Given the description of an element on the screen output the (x, y) to click on. 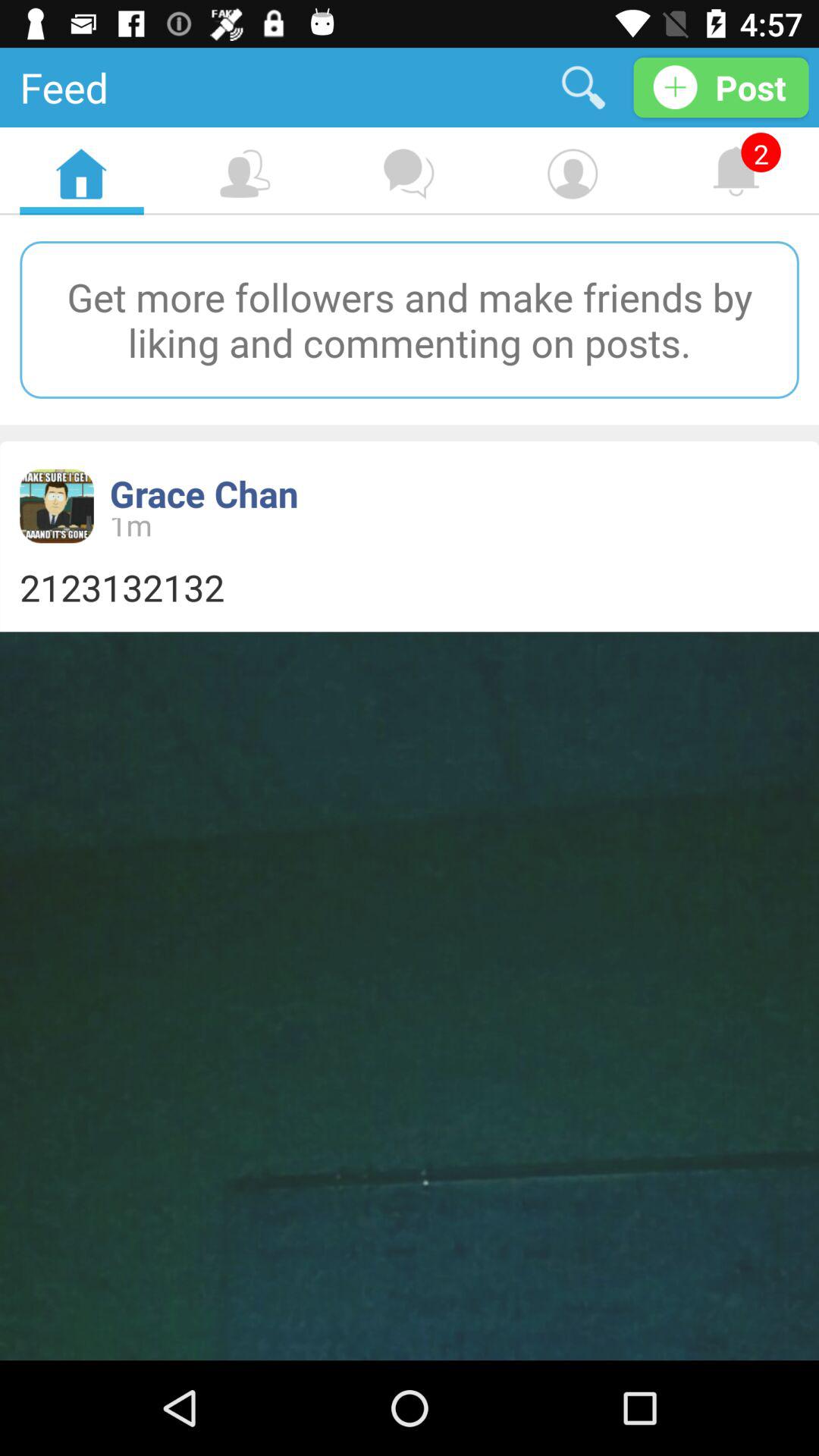
choose the grace chan item (203, 493)
